Given the description of an element on the screen output the (x, y) to click on. 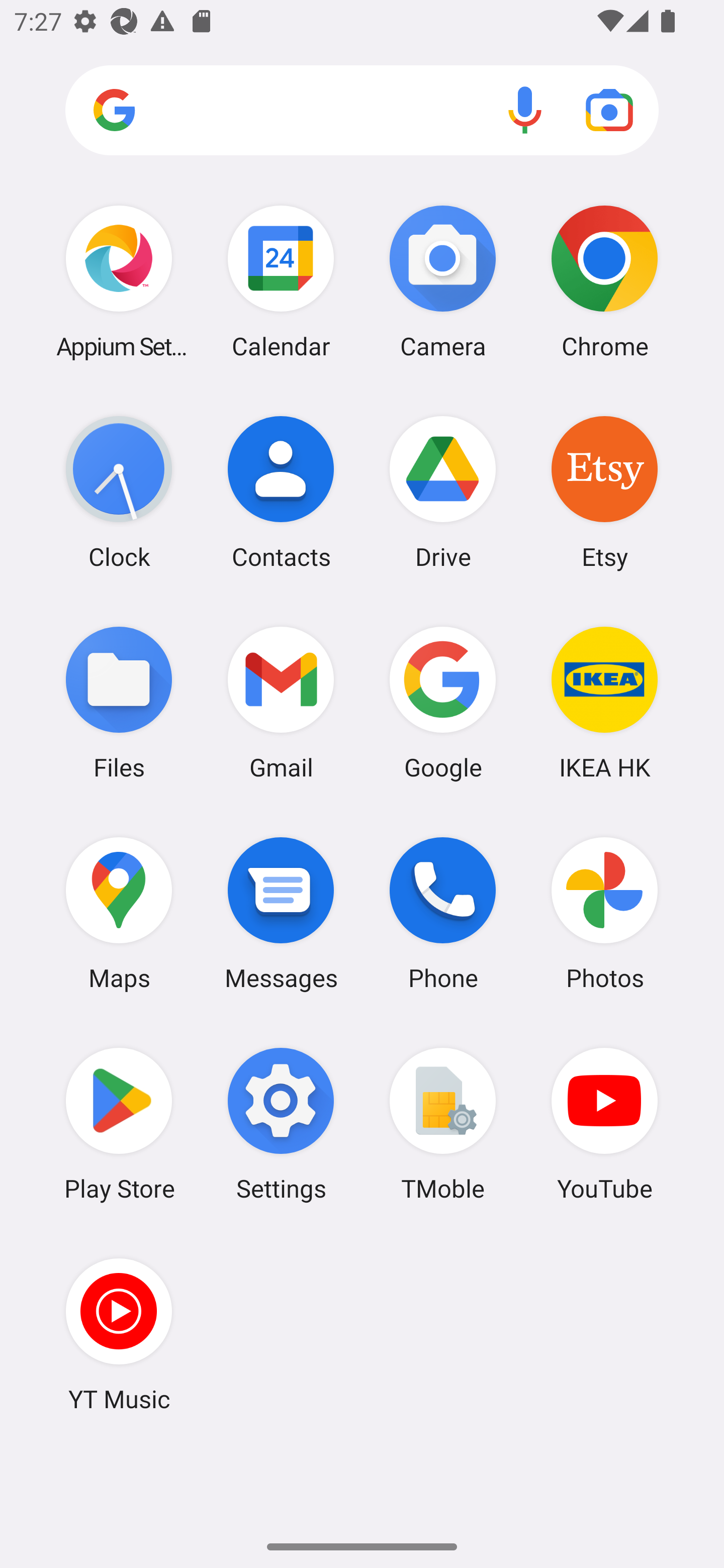
Search apps, web and more (361, 110)
Voice search (524, 109)
Google Lens (608, 109)
Appium Settings (118, 281)
Calendar (280, 281)
Camera (443, 281)
Chrome (604, 281)
Clock (118, 492)
Contacts (280, 492)
Drive (443, 492)
Etsy (604, 492)
Files (118, 702)
Gmail (280, 702)
Google (443, 702)
IKEA HK (604, 702)
Maps (118, 913)
Messages (280, 913)
Phone (443, 913)
Photos (604, 913)
Play Store (118, 1124)
Settings (280, 1124)
TMoble (443, 1124)
YouTube (604, 1124)
YT Music (118, 1334)
